Given the description of an element on the screen output the (x, y) to click on. 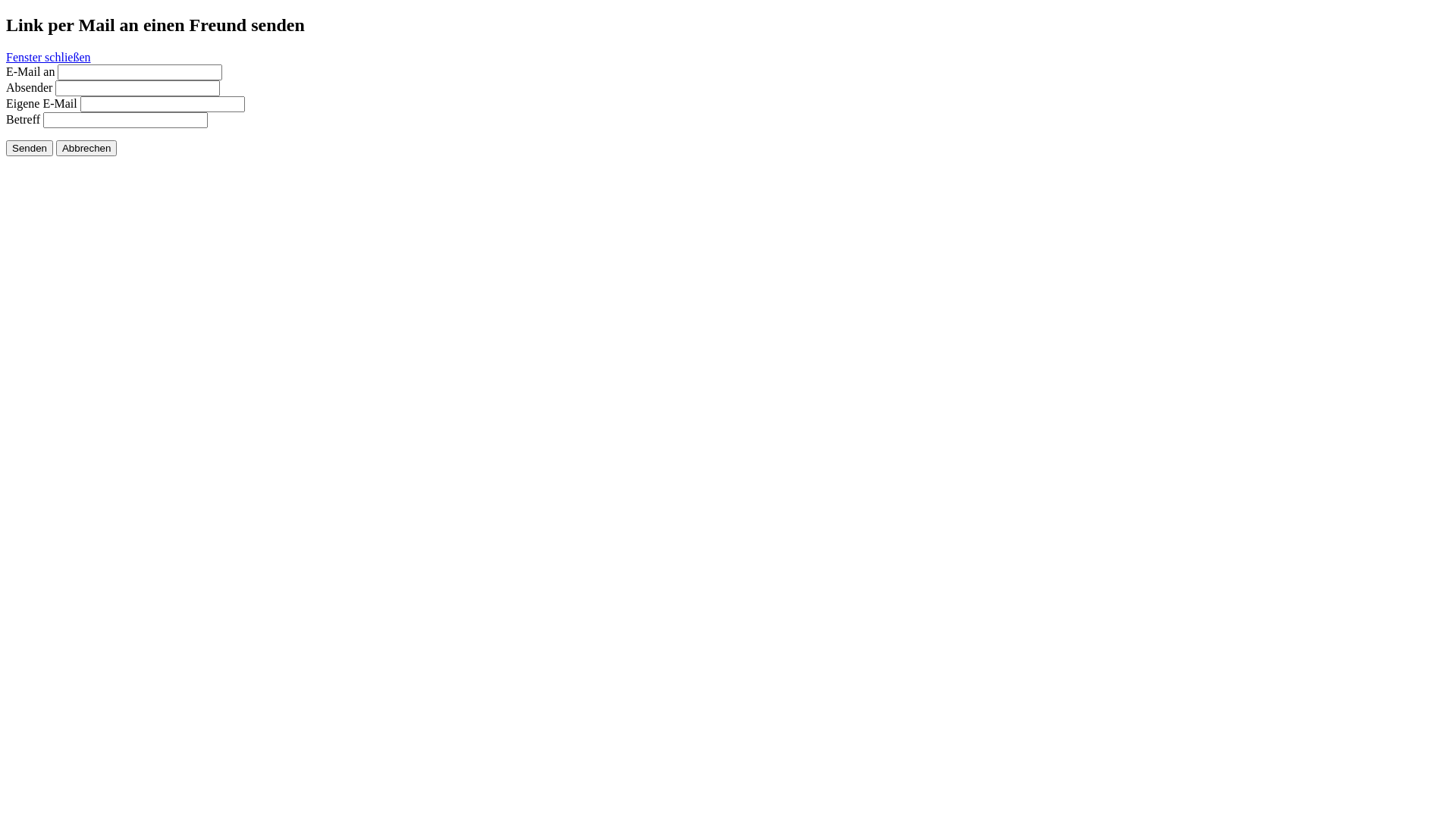
Senden Element type: text (29, 148)
Abbrechen Element type: text (86, 148)
